Given the description of an element on the screen output the (x, y) to click on. 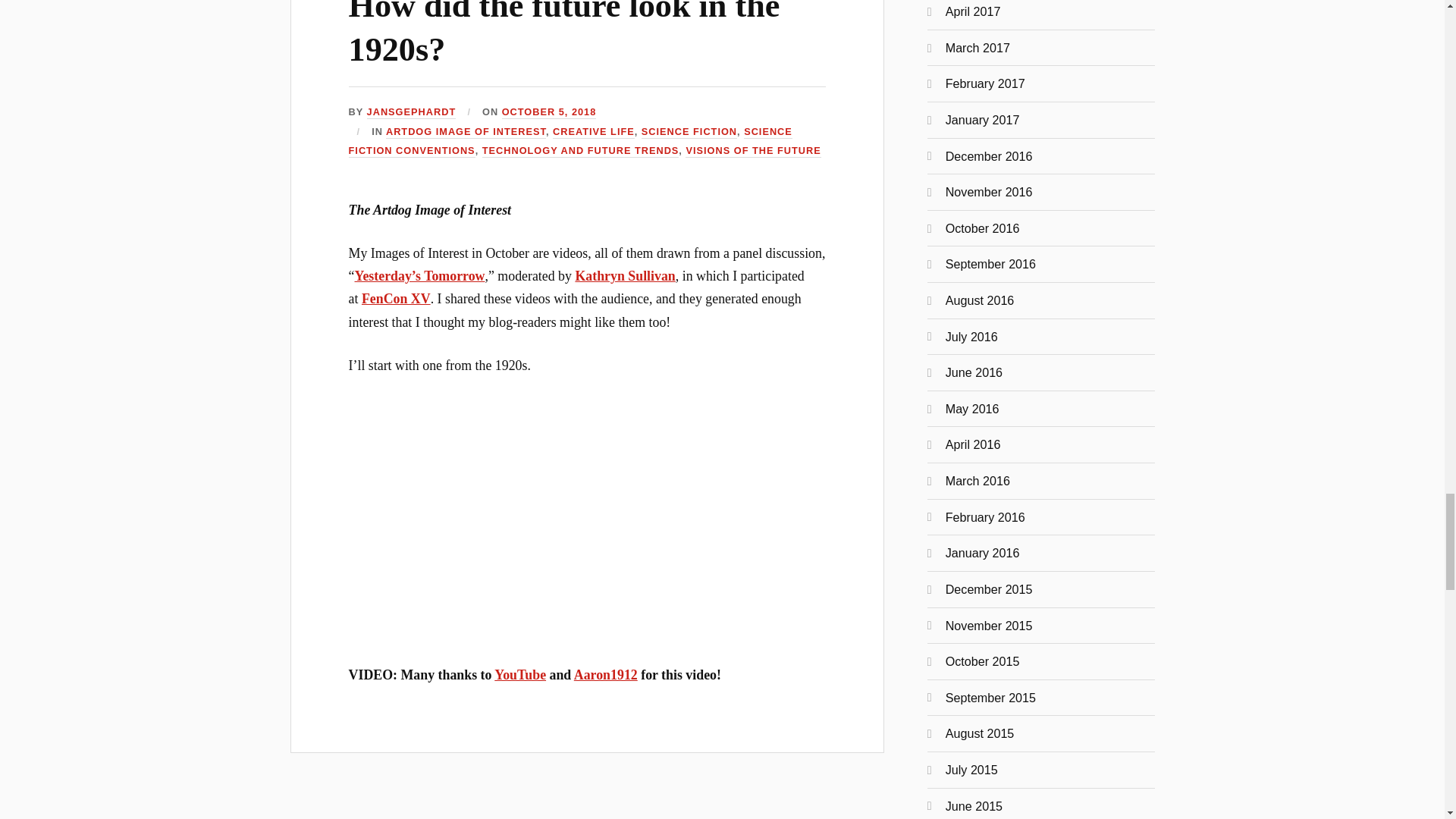
Posts by jansgephardt (411, 112)
